Given the description of an element on the screen output the (x, y) to click on. 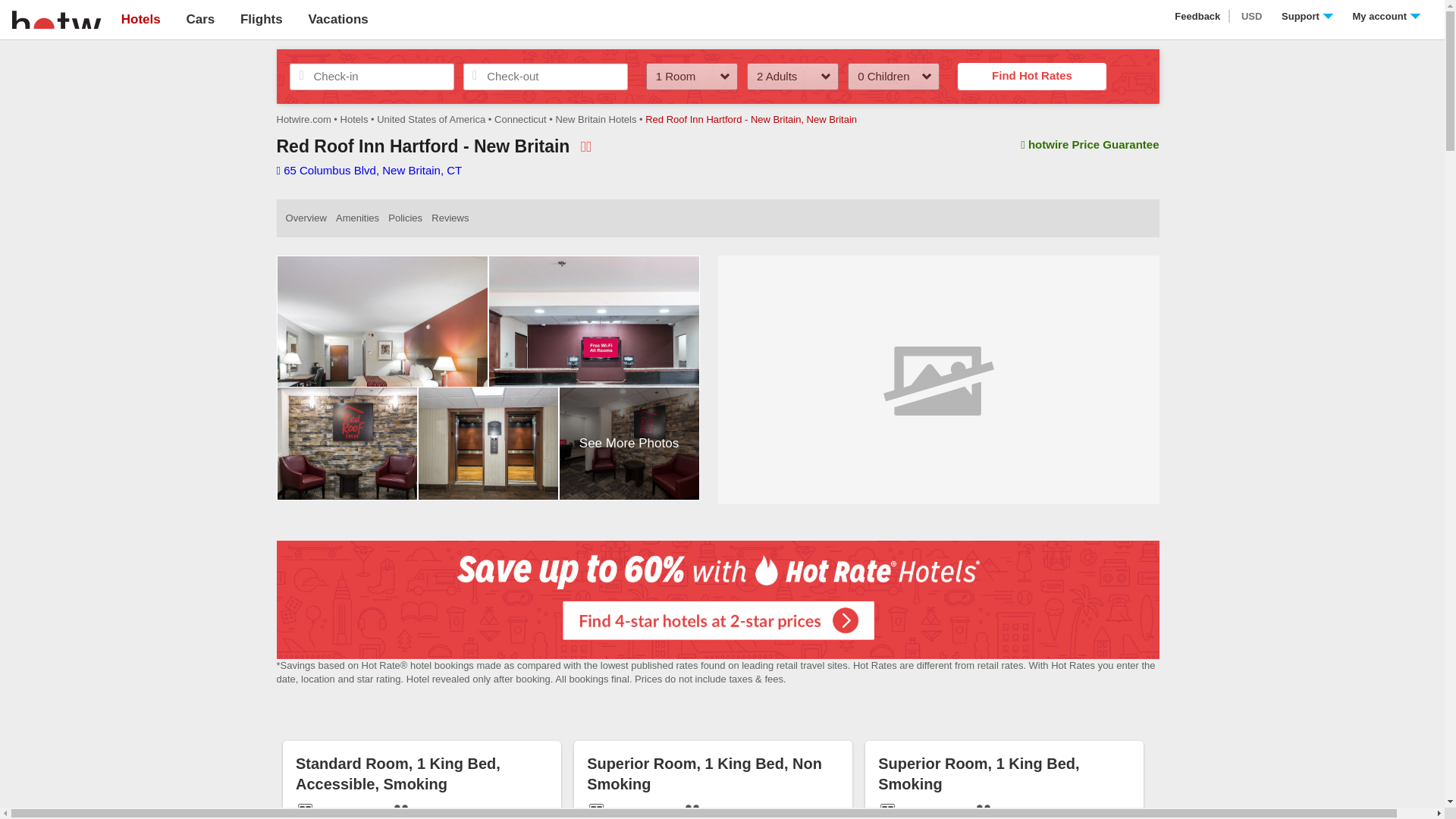
Hotwire (56, 18)
Vacations (337, 19)
Flights (261, 19)
My account (1386, 16)
Hotels (140, 19)
Support (1307, 16)
Cars (200, 19)
Feedback (1198, 16)
